Given the description of an element on the screen output the (x, y) to click on. 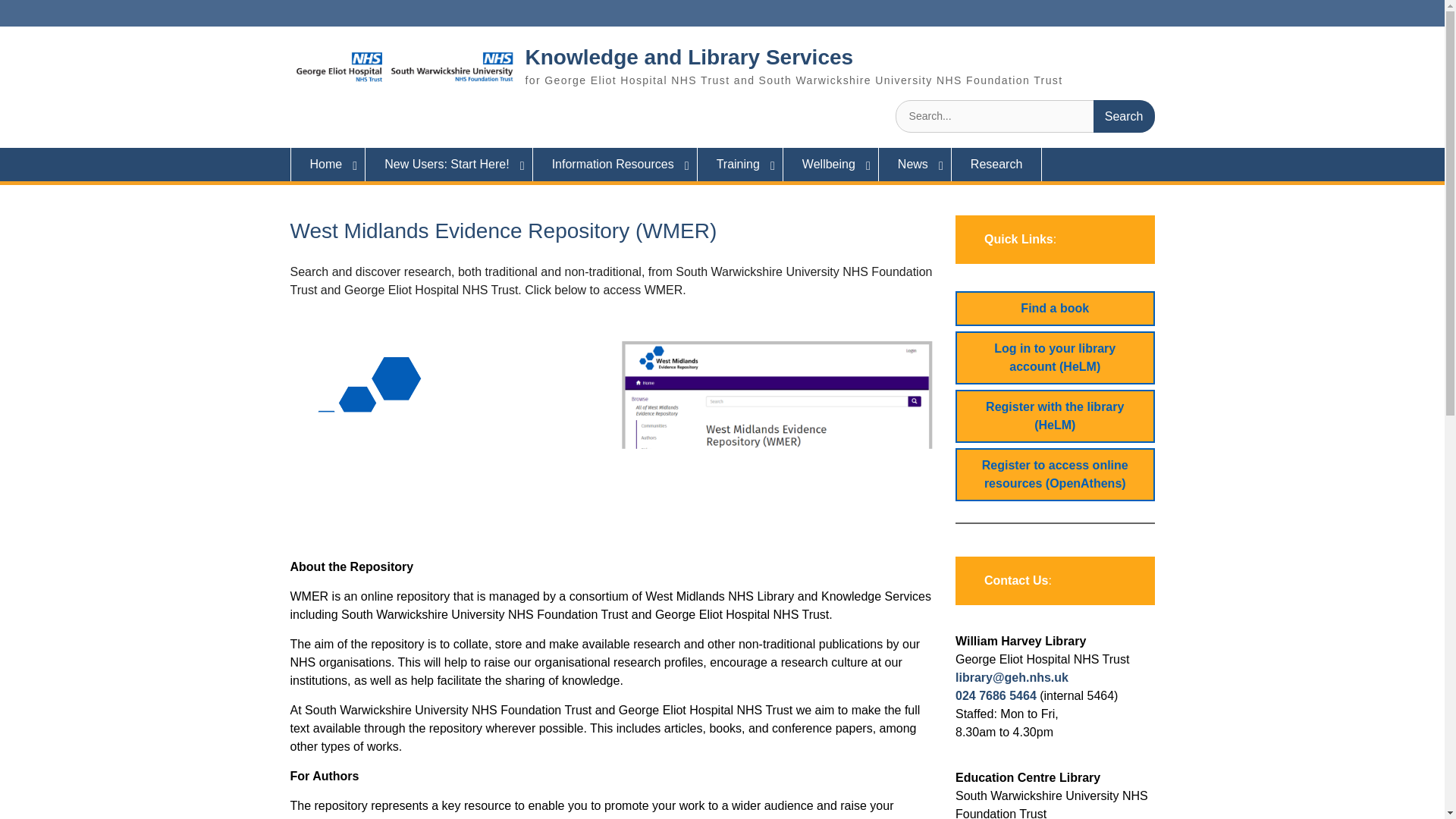
Information Resources (614, 164)
Search (1123, 115)
Search for: (1024, 115)
New Users: Start Here! (448, 164)
Home (327, 164)
Search (1123, 115)
Knowledge and Library Services (688, 56)
Search (1123, 115)
